Given the description of an element on the screen output the (x, y) to click on. 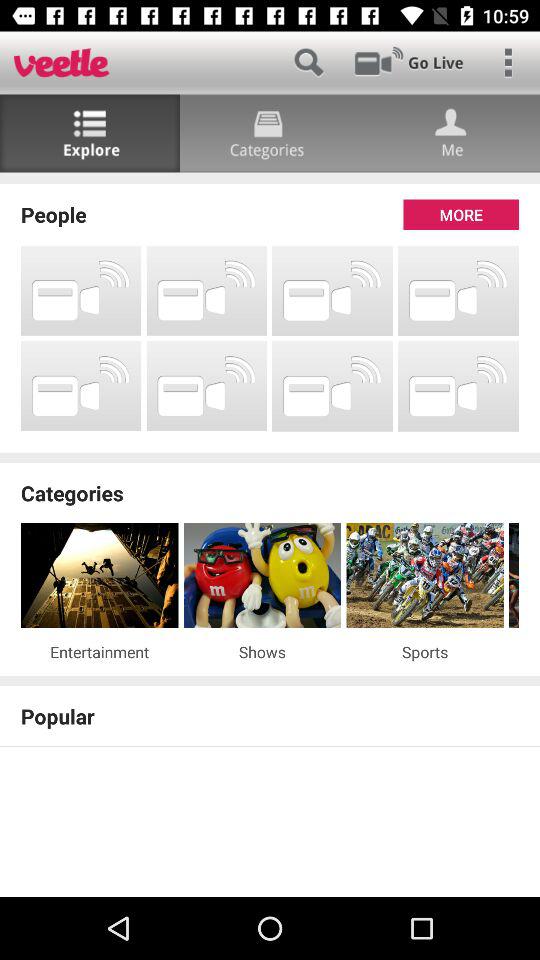
turn off the item above the popular app (270, 680)
